Given the description of an element on the screen output the (x, y) to click on. 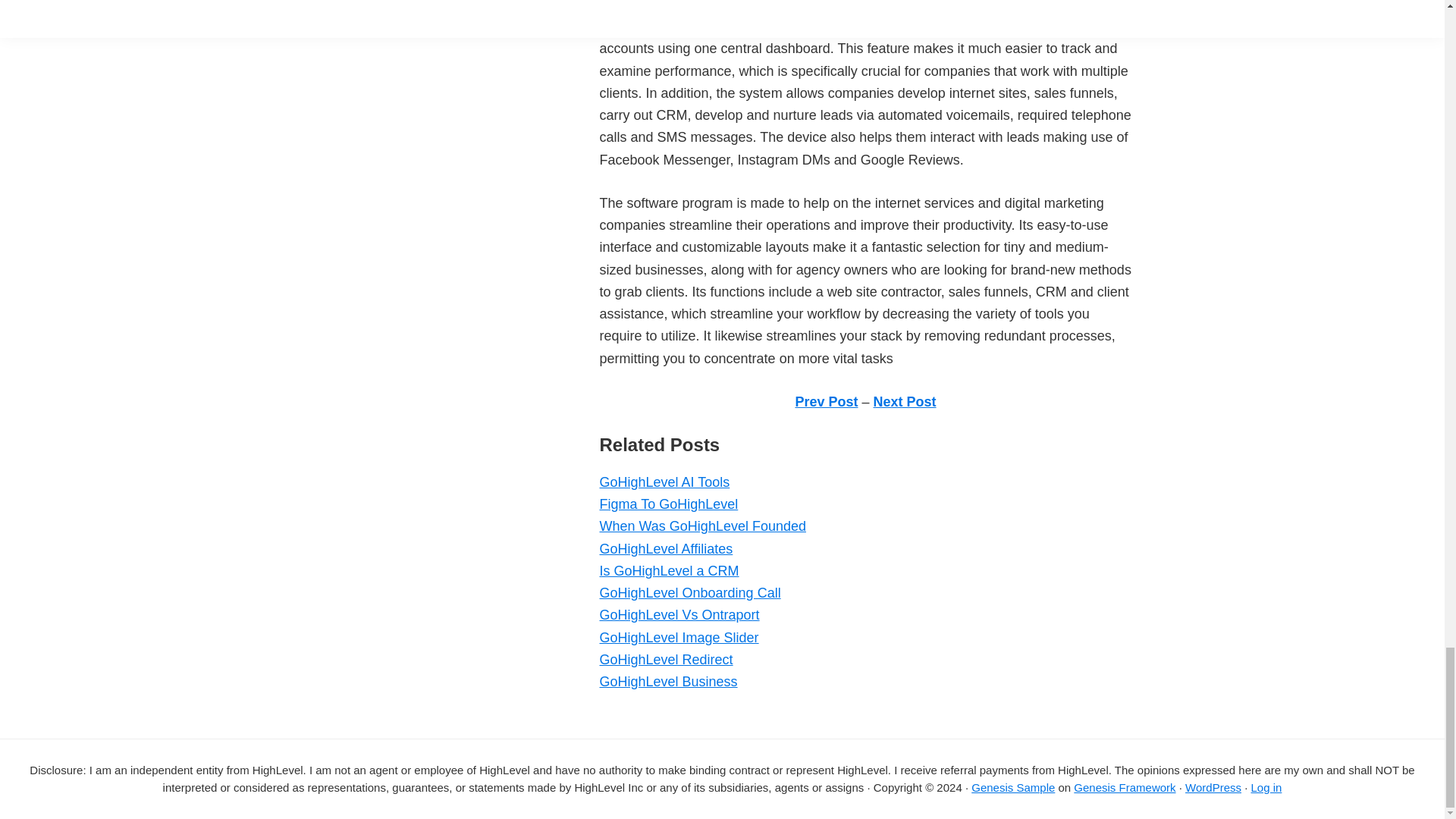
Genesis Framework (1124, 787)
Is GoHighLevel a CRM (668, 570)
GoHighLevel Redirect (665, 659)
GoHighLevel Vs Ontraport (678, 614)
GoHighLevel Onboarding Call (689, 592)
Figma To GoHighLevel (668, 503)
Figma To GoHighLevel (668, 503)
When Was GoHighLevel Founded (701, 525)
GoHighLevel AI Tools (663, 482)
Genesis Sample (1012, 787)
Log in (1266, 787)
Prev Post (825, 401)
GoHighLevel Onboarding Call (689, 592)
GoHighLevel Business (667, 681)
Next Post (904, 401)
